Given the description of an element on the screen output the (x, y) to click on. 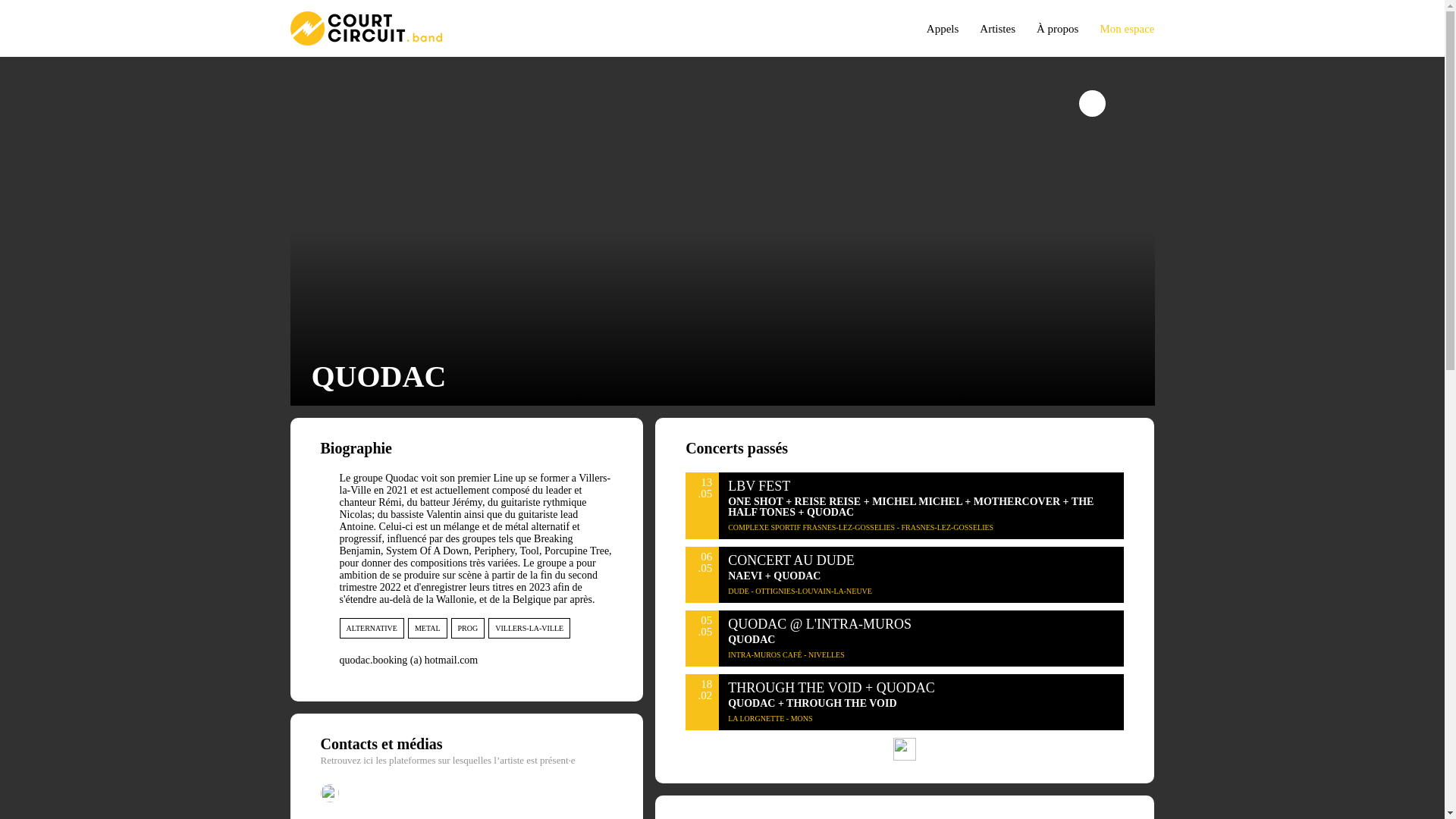
Appels Element type: text (935, 27)
Artistes Element type: text (989, 27)
Mon espace Element type: text (1117, 27)
